Given the description of an element on the screen output the (x, y) to click on. 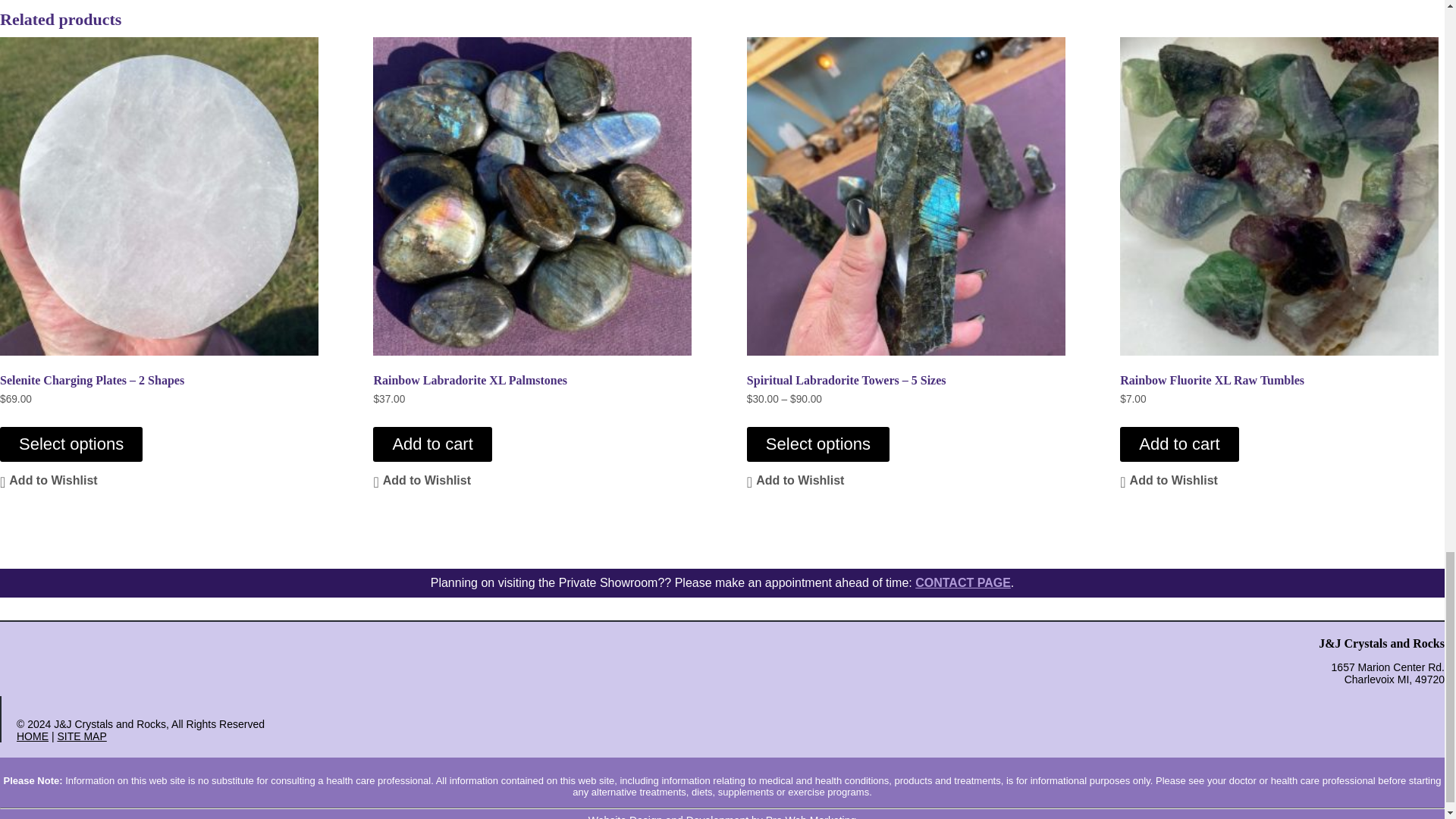
Home (32, 736)
Site Map (81, 736)
